Given the description of an element on the screen output the (x, y) to click on. 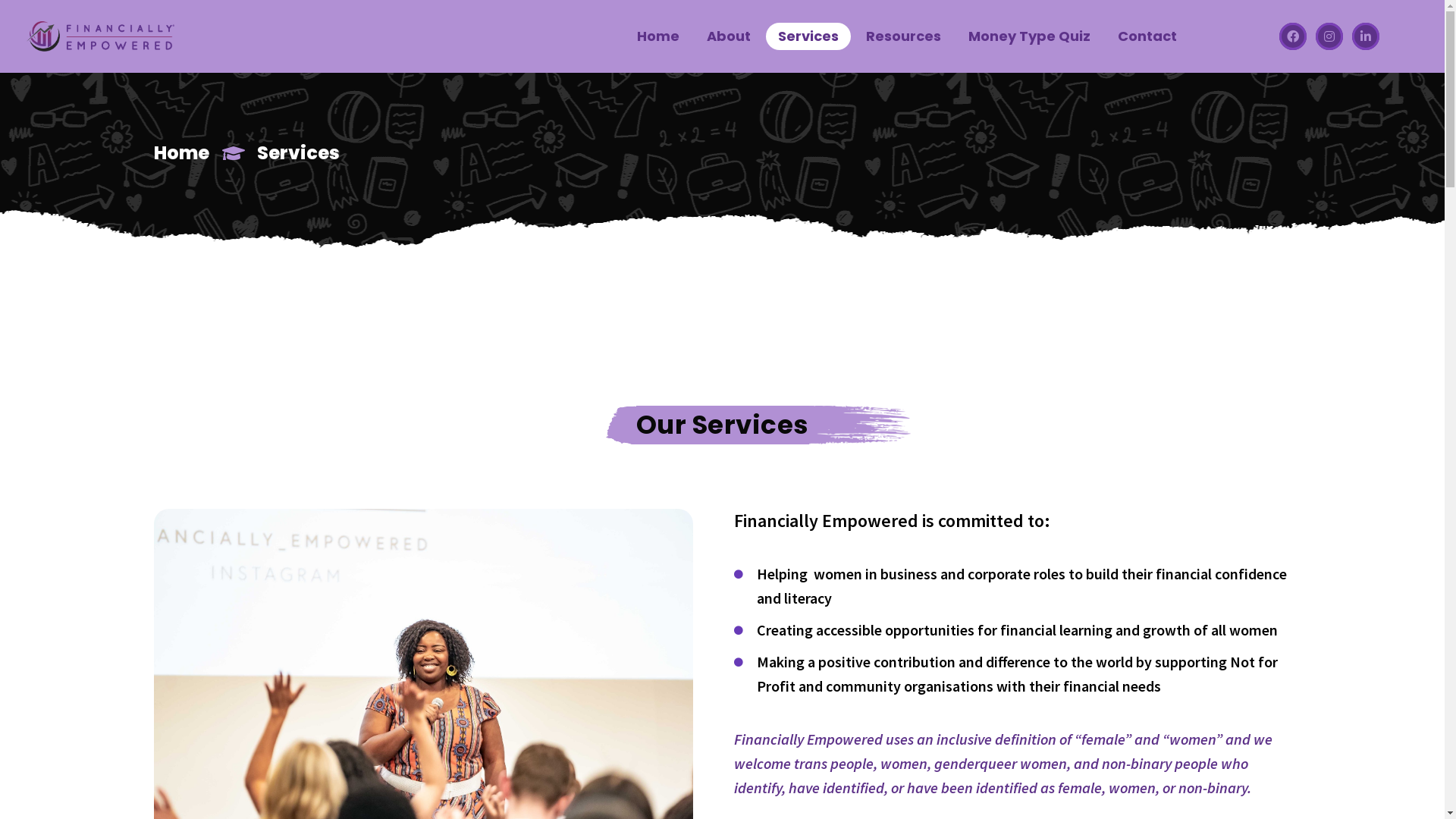
Resources Element type: text (903, 36)
About Element type: text (728, 36)
Home Element type: text (180, 152)
Services Element type: text (807, 36)
Contact Element type: text (1147, 36)
Money Type Quiz Element type: text (1029, 36)
Home Element type: text (657, 36)
